Given the description of an element on the screen output the (x, y) to click on. 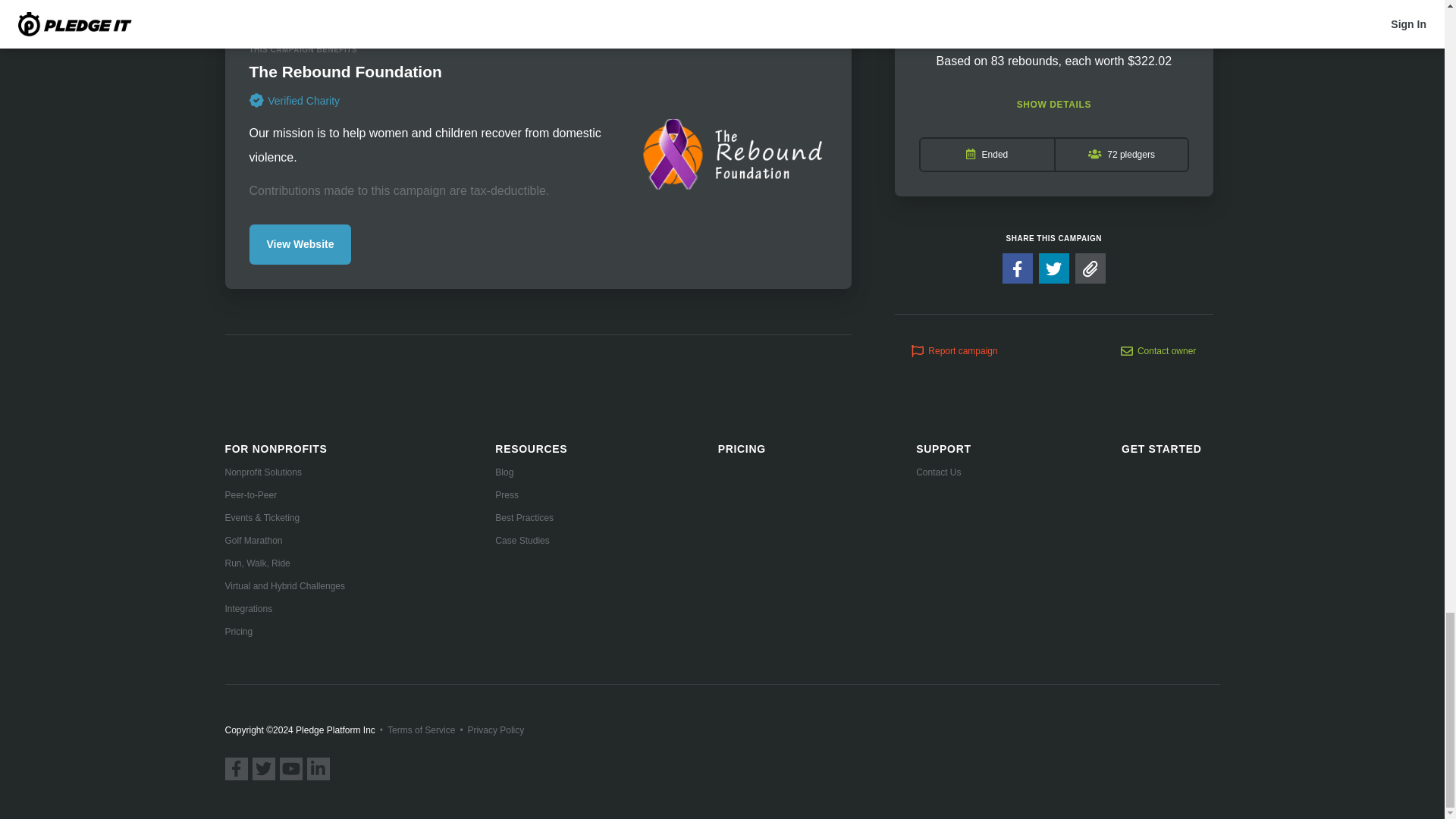
View Website (300, 244)
GET STARTED (1161, 449)
PRICING (741, 449)
Peer-to-Peer (284, 495)
Integrations (284, 608)
Virtual and Hybrid Challenges (284, 585)
Run, Walk, Ride (284, 563)
Pricing (284, 631)
Contact Us (943, 472)
Blog (531, 472)
